Given the description of an element on the screen output the (x, y) to click on. 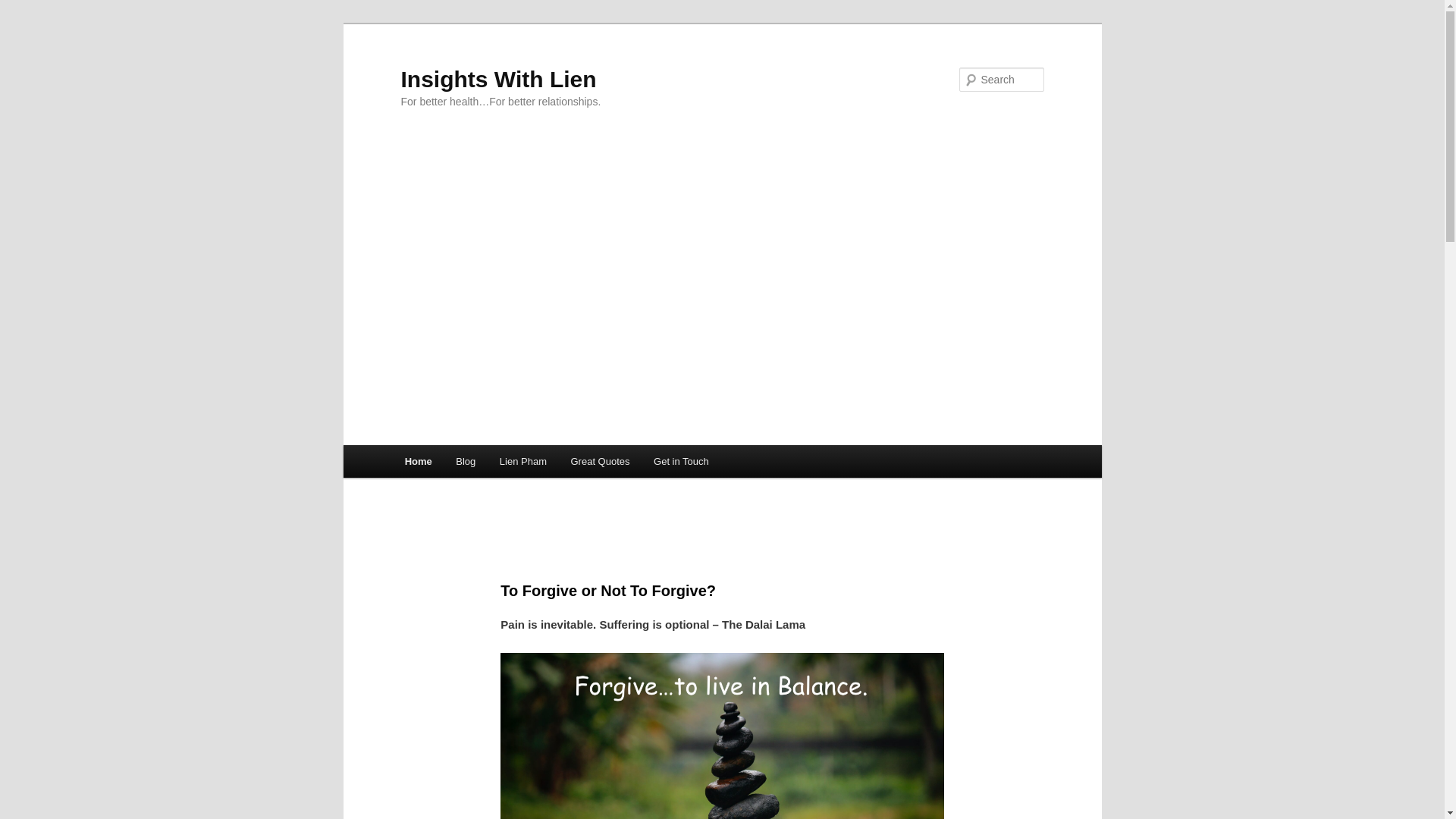
Insights With Lien (497, 78)
Home (418, 461)
Get in Touch (681, 461)
Home (418, 461)
Great Quotes (600, 461)
Search (24, 8)
Blog (465, 461)
Lien Pham (523, 461)
Lien Pham (523, 461)
